Given the description of an element on the screen output the (x, y) to click on. 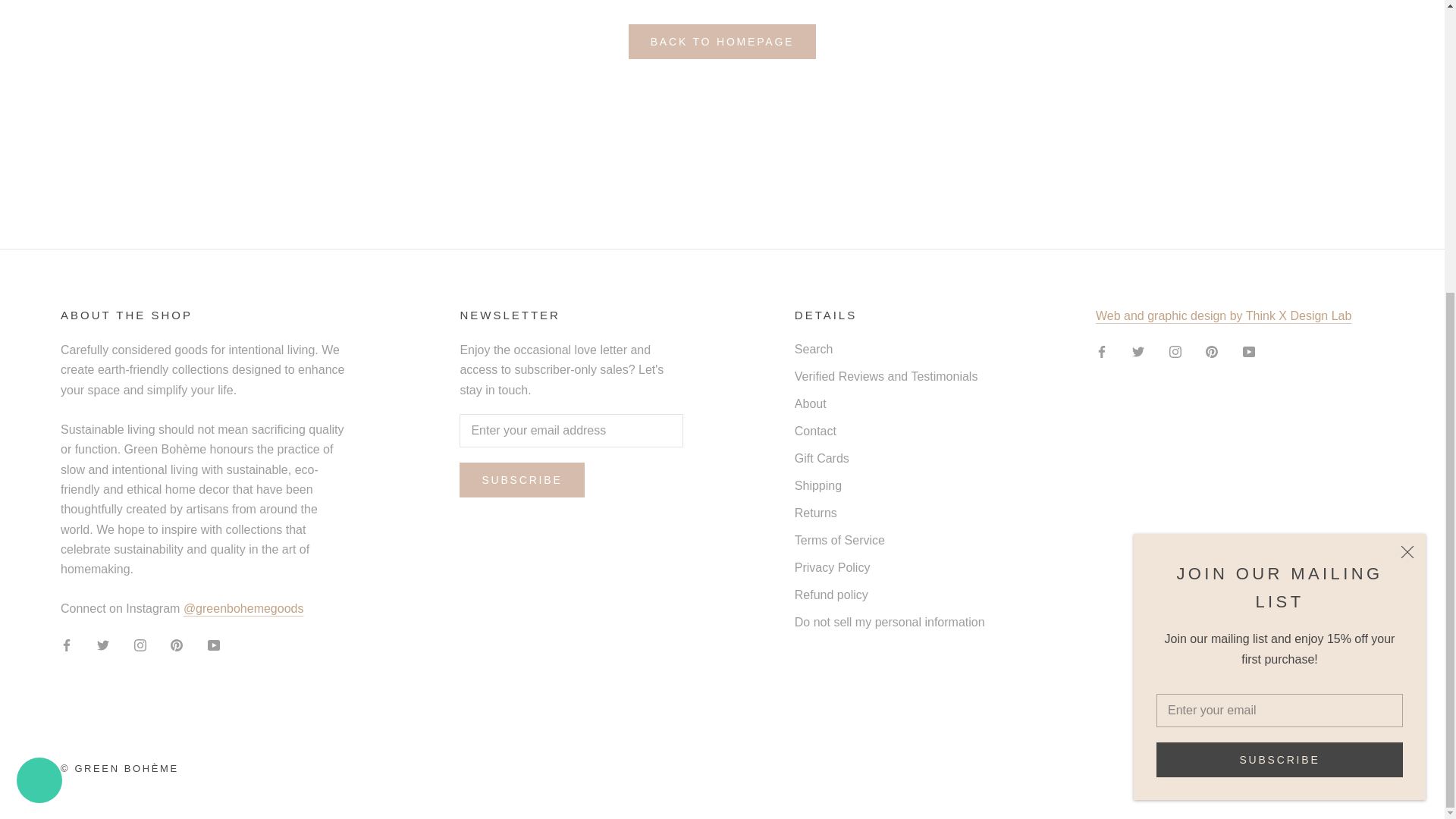
Visa (1369, 766)
Shopify online store chat (38, 334)
Apple Pay (1205, 766)
SUBSCRIBE (1279, 312)
Mastercard (1286, 766)
Google Pay (1245, 766)
American Express (1164, 766)
Shop Pay (1328, 766)
